Given the description of an element on the screen output the (x, y) to click on. 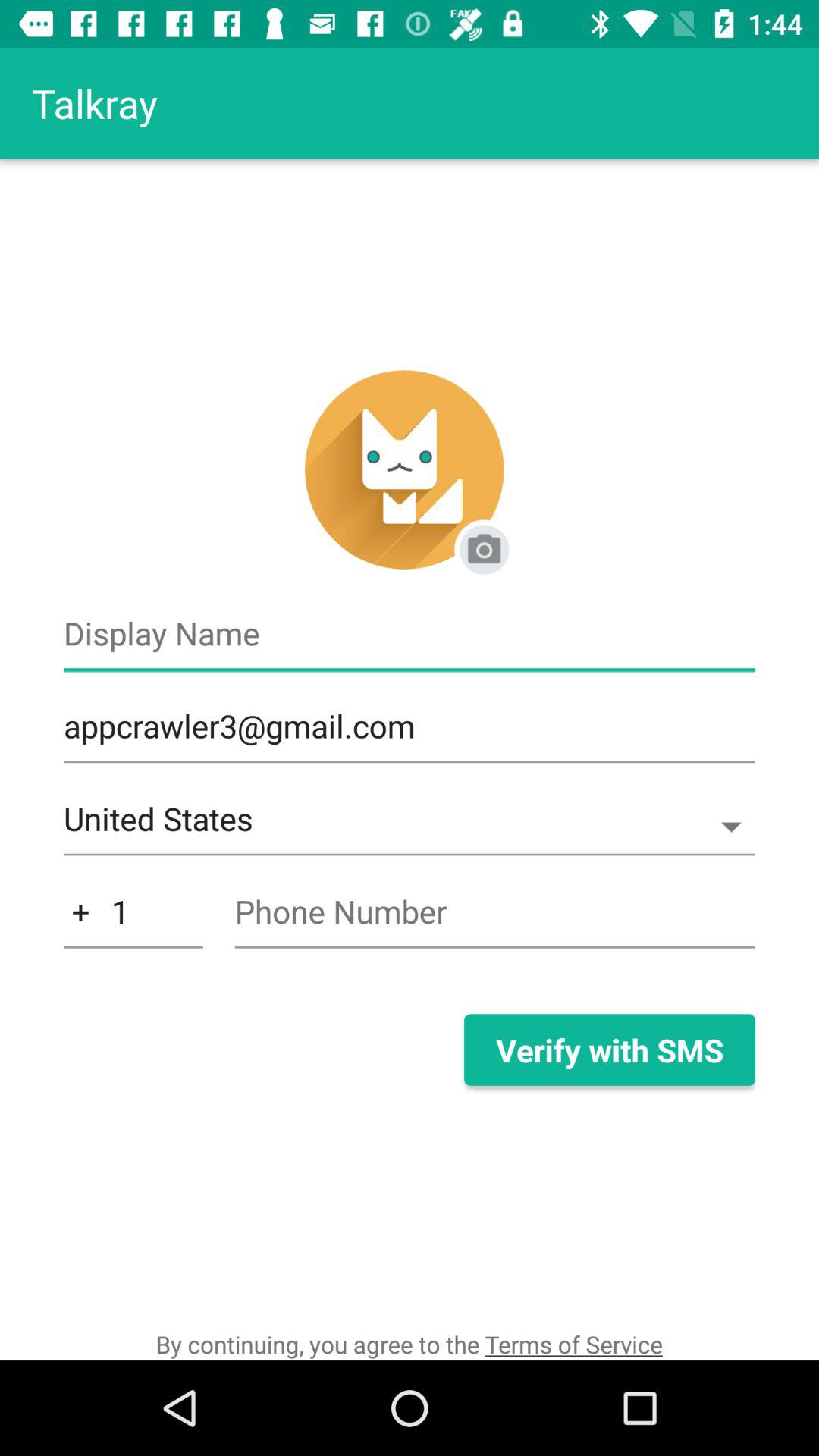
select the icon above the by continuing you item (133, 919)
